Given the description of an element on the screen output the (x, y) to click on. 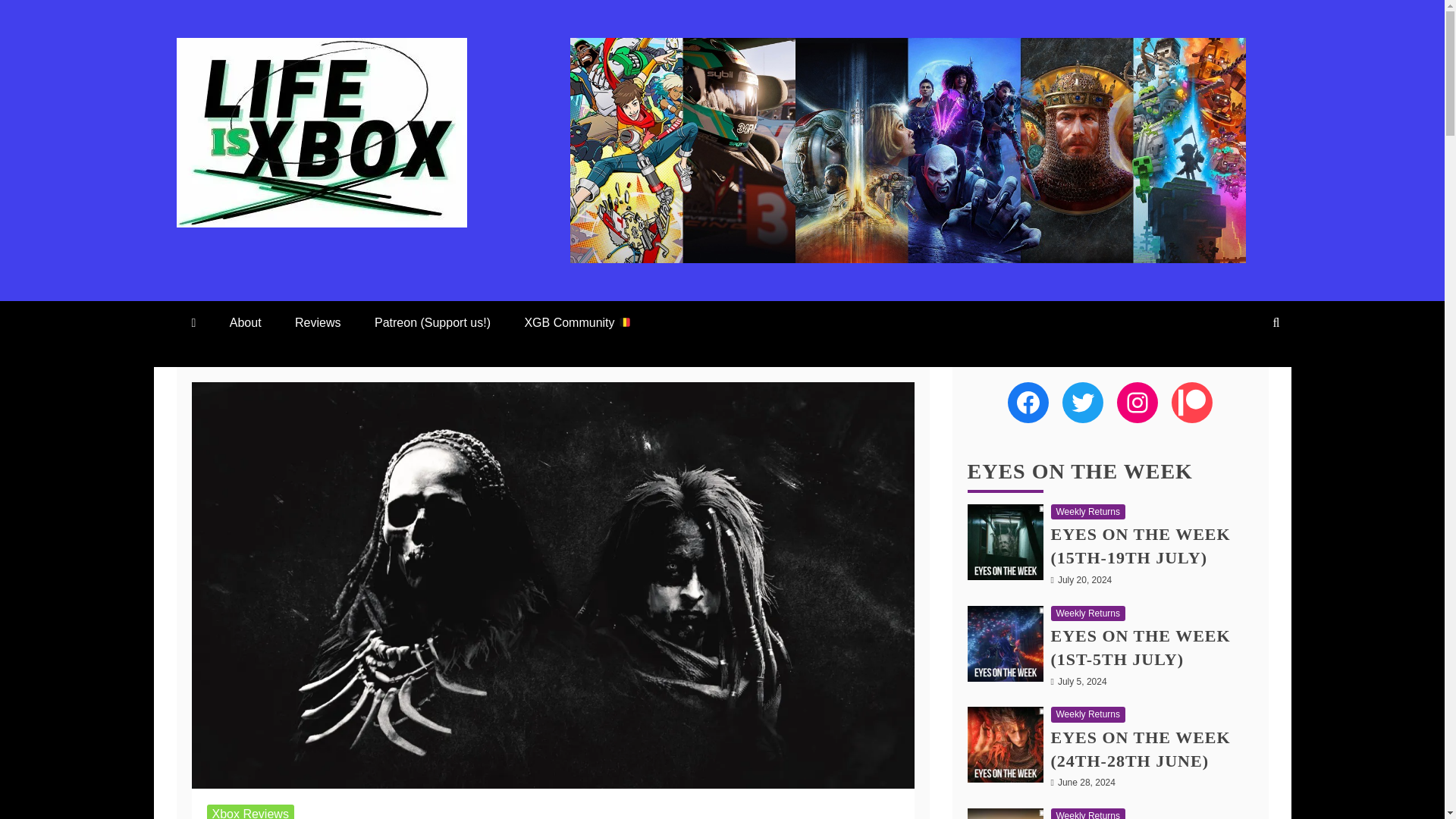
XGB Community (577, 322)
Xbox Reviews (250, 811)
About (245, 322)
Reviews (317, 322)
